Given the description of an element on the screen output the (x, y) to click on. 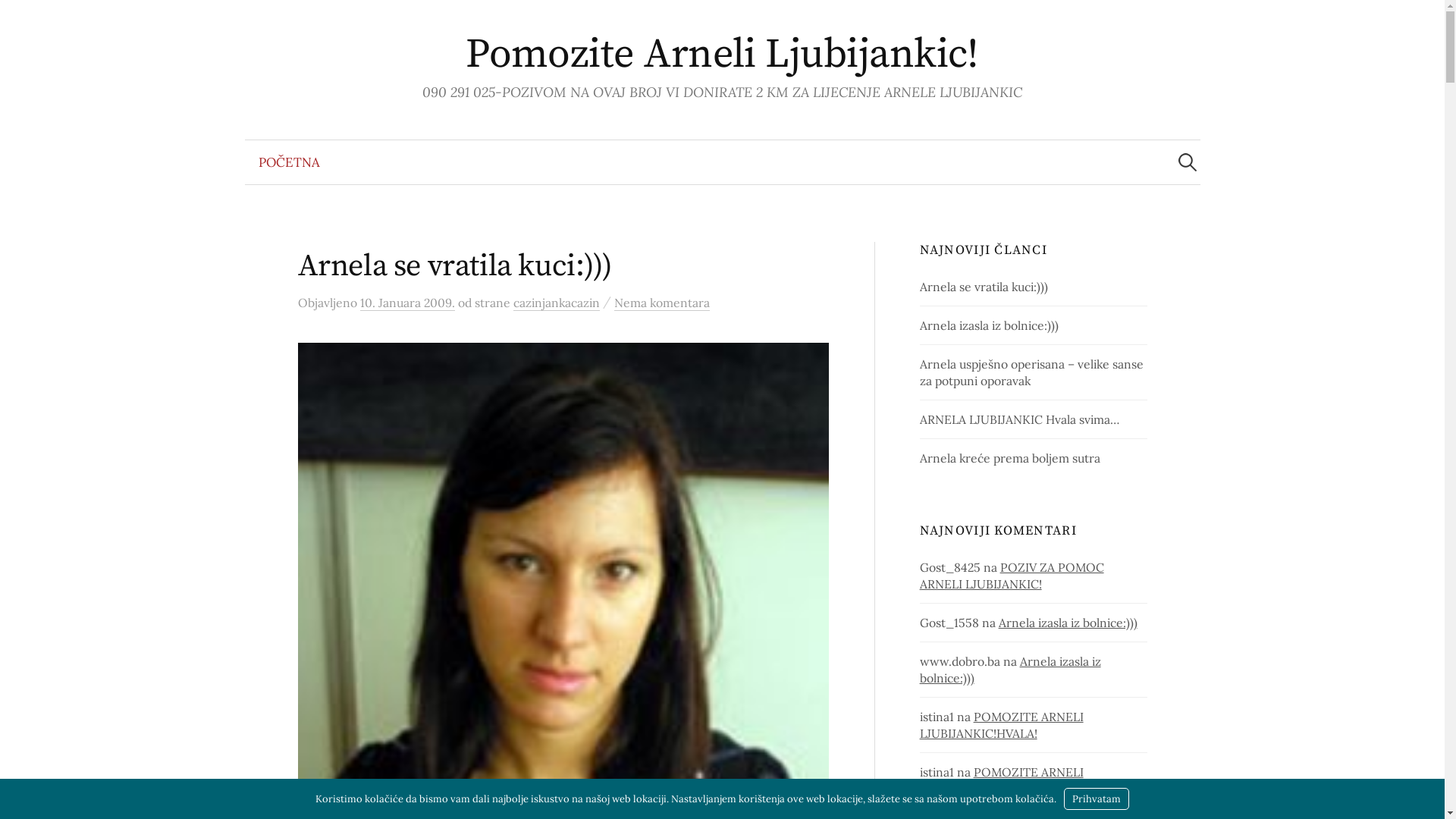
Pomozite Arneli Ljubijankic! Element type: text (722, 54)
Arnela se vratila kuci:))) Element type: text (983, 286)
Arnela izasla iz bolnice:))) Element type: text (1067, 622)
Arnela se vratila kuci:))) Element type: text (454, 266)
10. Januara 2009. Element type: text (406, 302)
POZIV ZA POMOC ARNELI LJUBIJANKIC! Element type: text (1011, 575)
POMOZITE ARNELI LJUBIJANKIC!HVALA! Element type: text (1001, 724)
Arnela izasla iz bolnice:))) Element type: text (988, 324)
Nema komentara
na Arnela se vratila kuci:))) Element type: text (661, 302)
cazinjankacazin Element type: text (555, 302)
POMOZITE ARNELI LJUBIJANKIC!HVALA! Element type: text (1001, 780)
Prihvatam Element type: text (1096, 798)
Arnela izasla iz bolnice:))) Element type: text (1010, 669)
Pretraga Element type: text (18, 18)
